Given the description of an element on the screen output the (x, y) to click on. 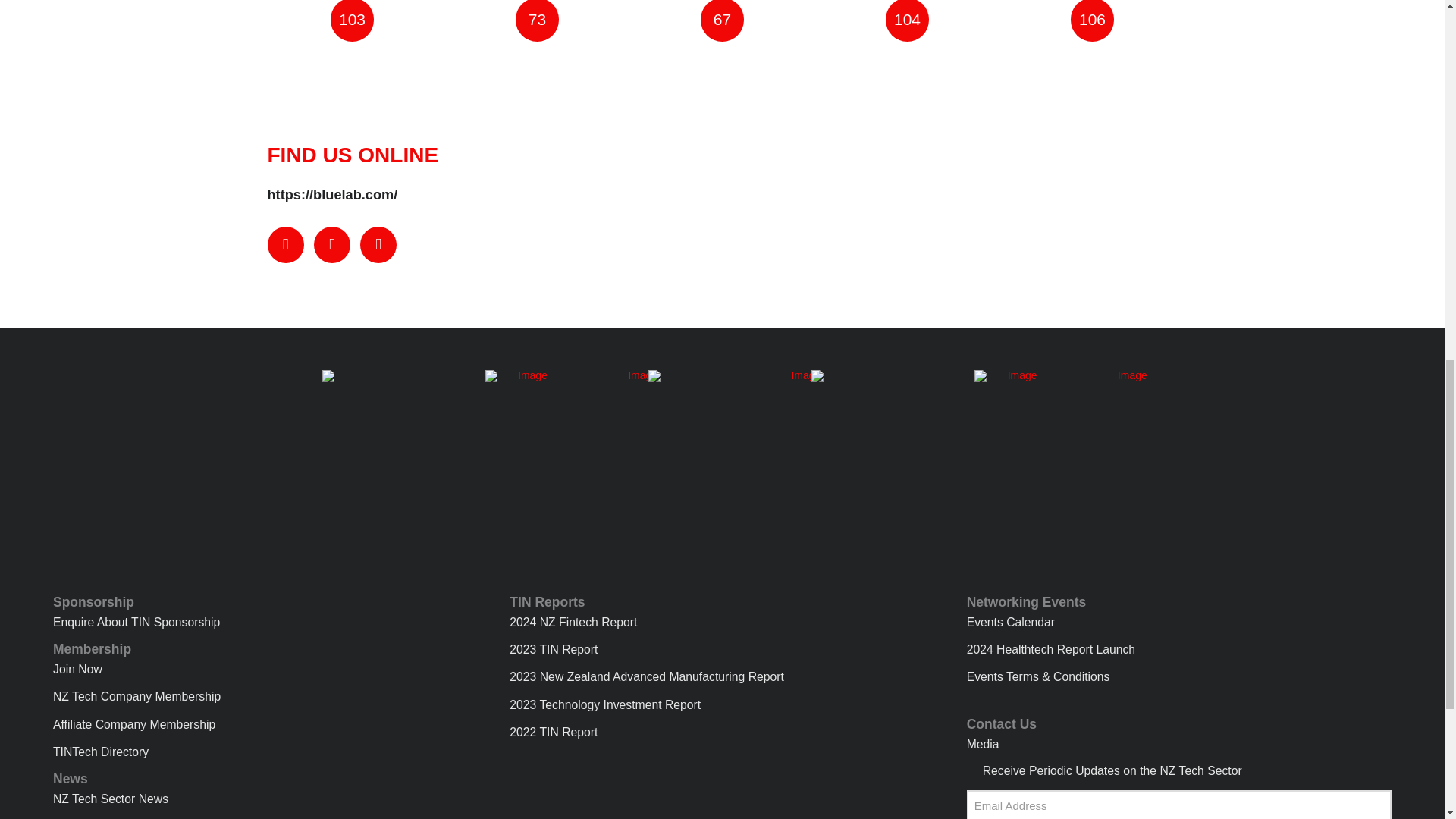
103 (352, 20)
Sponsorship (264, 605)
73 (537, 20)
67 (722, 20)
106 (1092, 20)
104 (907, 20)
